Given the description of an element on the screen output the (x, y) to click on. 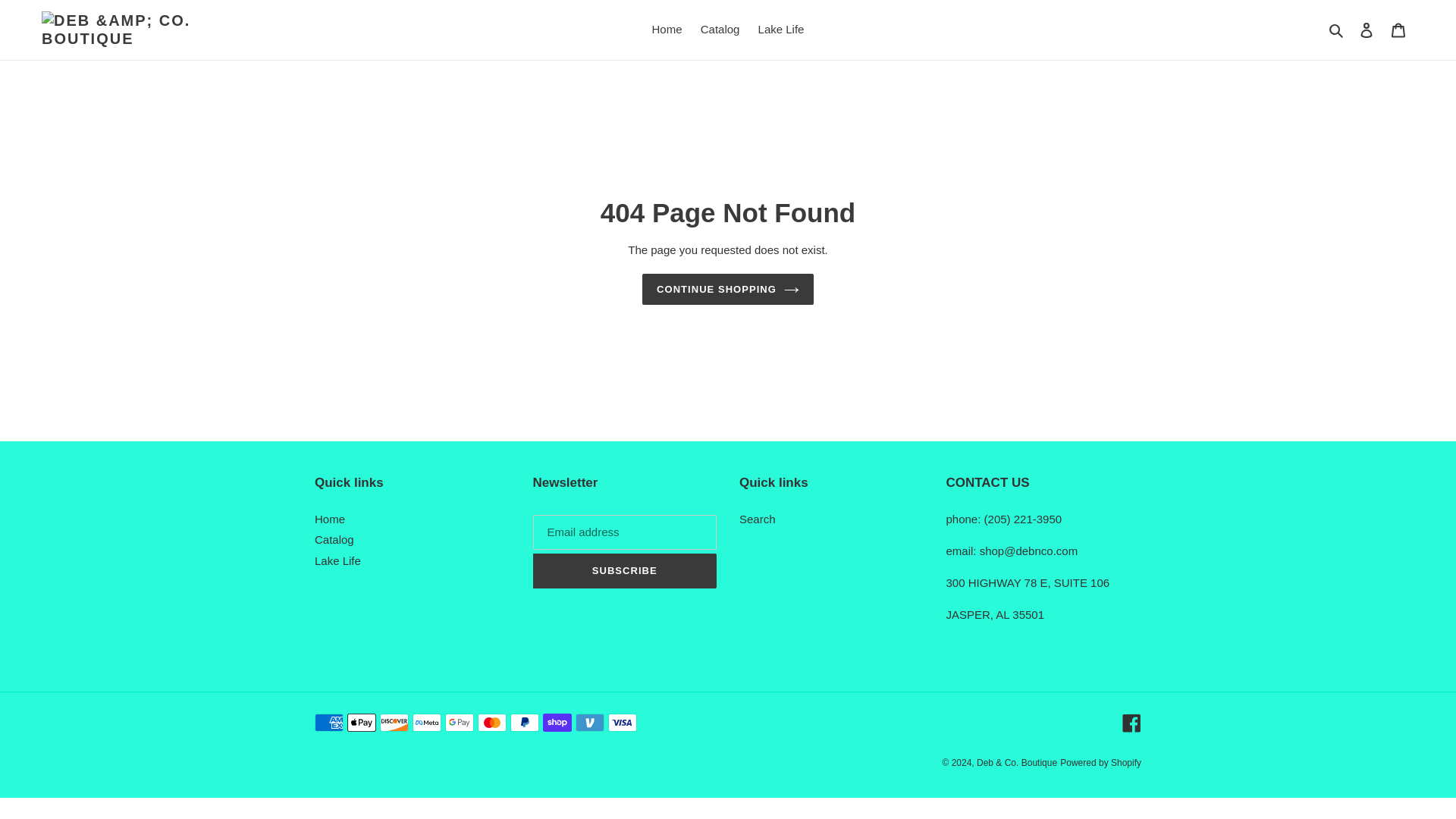
Catalog (720, 29)
Home (329, 518)
Powered by Shopify (1100, 762)
Cart (1397, 29)
Search (757, 518)
SUBSCRIBE (624, 570)
Lake Life (781, 29)
Lake Life (337, 560)
Search (1337, 29)
Catalog (333, 539)
